Given the description of an element on the screen output the (x, y) to click on. 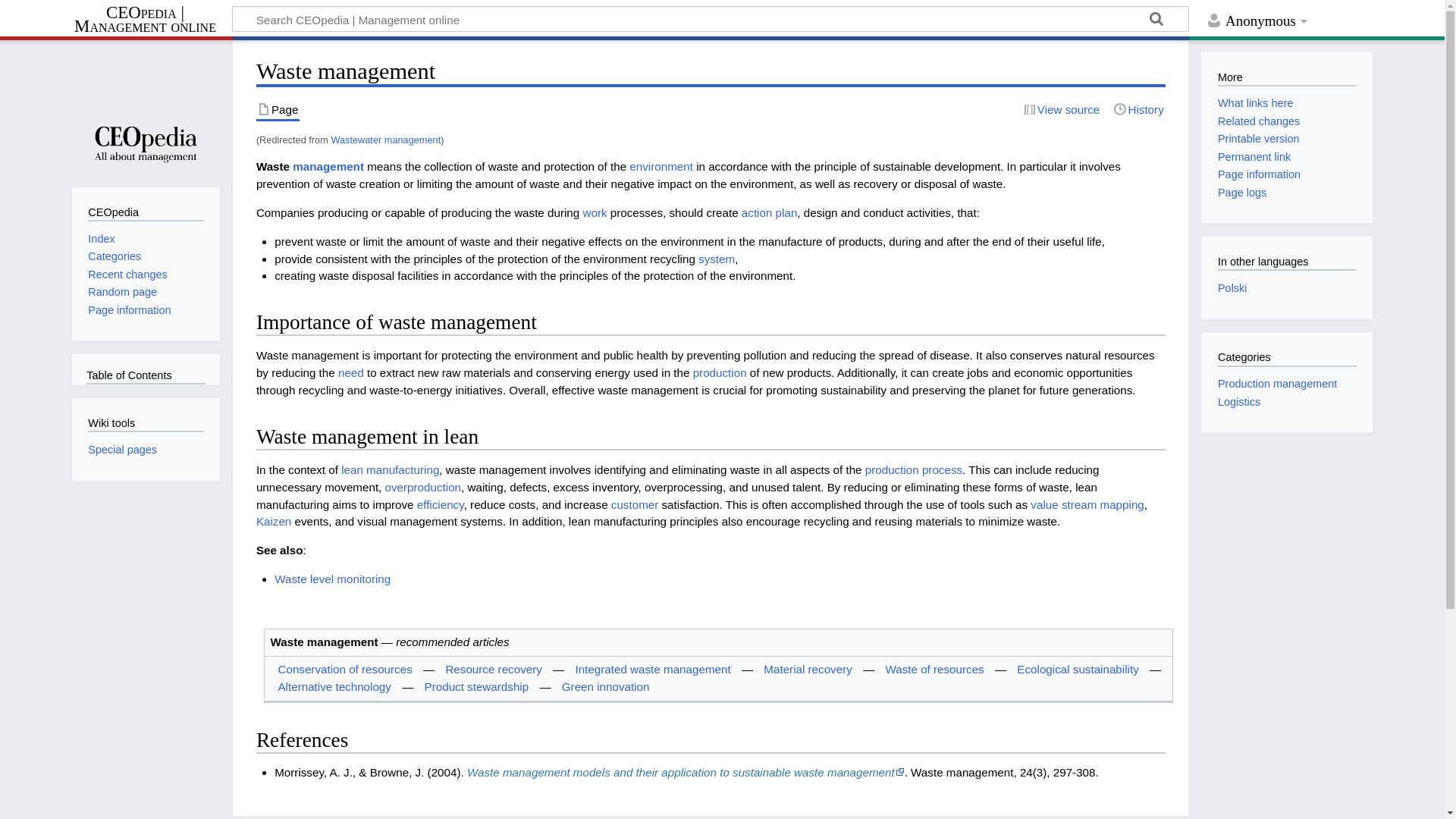
Search (1155, 21)
Production (719, 372)
production (719, 372)
Search the pages for this text (1155, 21)
Management (328, 165)
Work (594, 212)
Waste level monitoring (332, 578)
History (1138, 109)
lean manufacturing (389, 469)
System (716, 258)
